Given the description of an element on the screen output the (x, y) to click on. 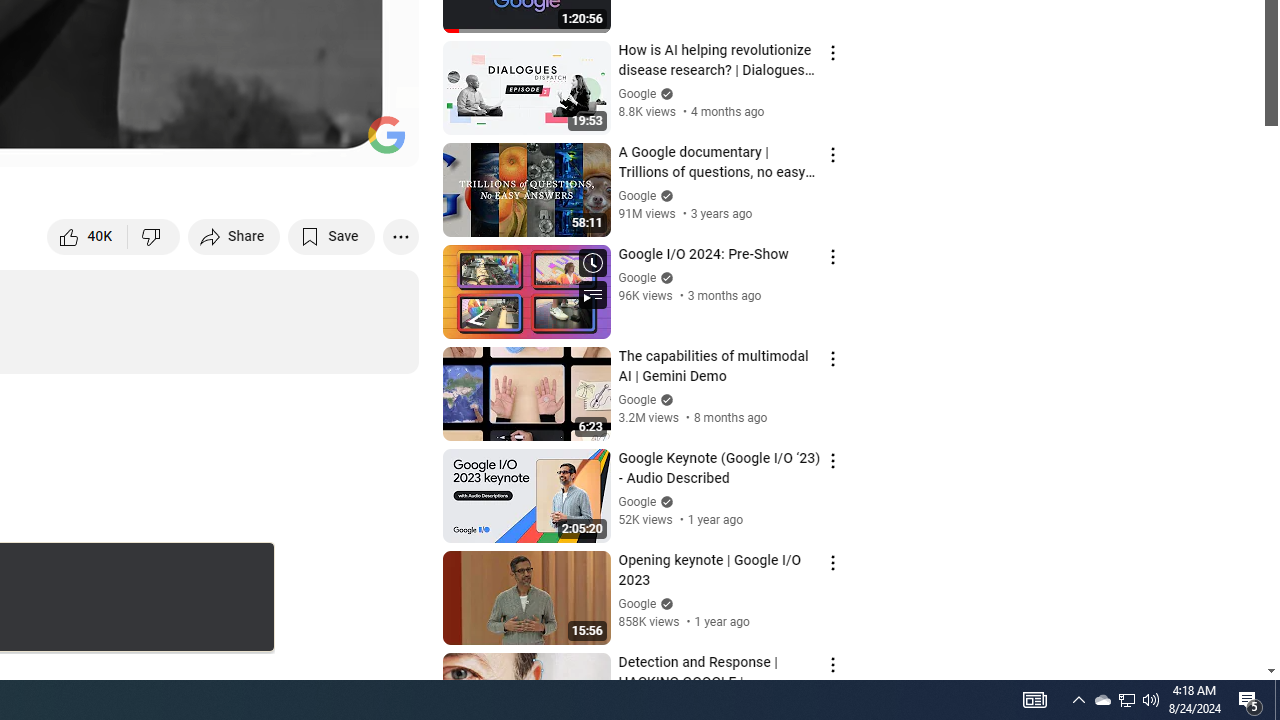
Share (234, 236)
Autoplay is on (141, 142)
More actions (399, 236)
Subtitles/closed captions unavailable (190, 142)
Save to playlist (331, 236)
like this video along with 40,865 other people (88, 236)
Theater mode (t) (333, 142)
Dislike this video (154, 236)
Miniplayer (i) (286, 142)
Channel watermark (386, 134)
